Given the description of an element on the screen output the (x, y) to click on. 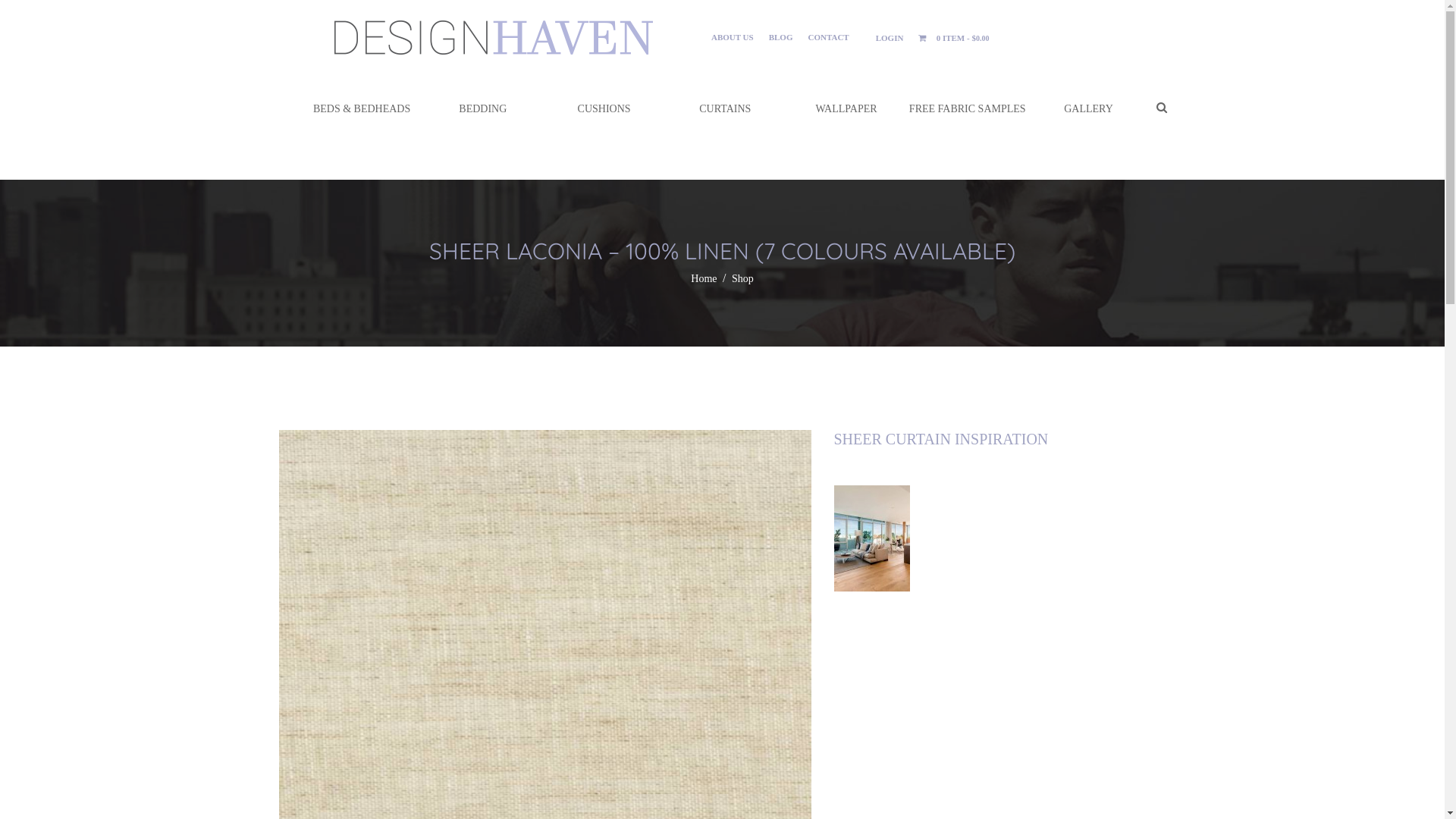
CURTAINS Element type: text (724, 108)
FREE FABRIC SAMPLES Element type: text (966, 108)
Default Element type: hover (491, 37)
Shop Element type: text (742, 278)
CUSHIONS Element type: text (603, 108)
CONTACT Element type: text (827, 36)
WALLPAPER Element type: text (845, 108)
Home Element type: text (703, 278)
ABOUT US Element type: text (732, 36)
BLOG Element type: text (780, 36)
BEDS & BEDHEADS Element type: text (360, 108)
GALLERY Element type: text (1088, 108)
LOGIN Element type: text (889, 37)
BEDDING Element type: text (482, 108)
View your shopping bag Element type: hover (923, 37)
